Given the description of an element on the screen output the (x, y) to click on. 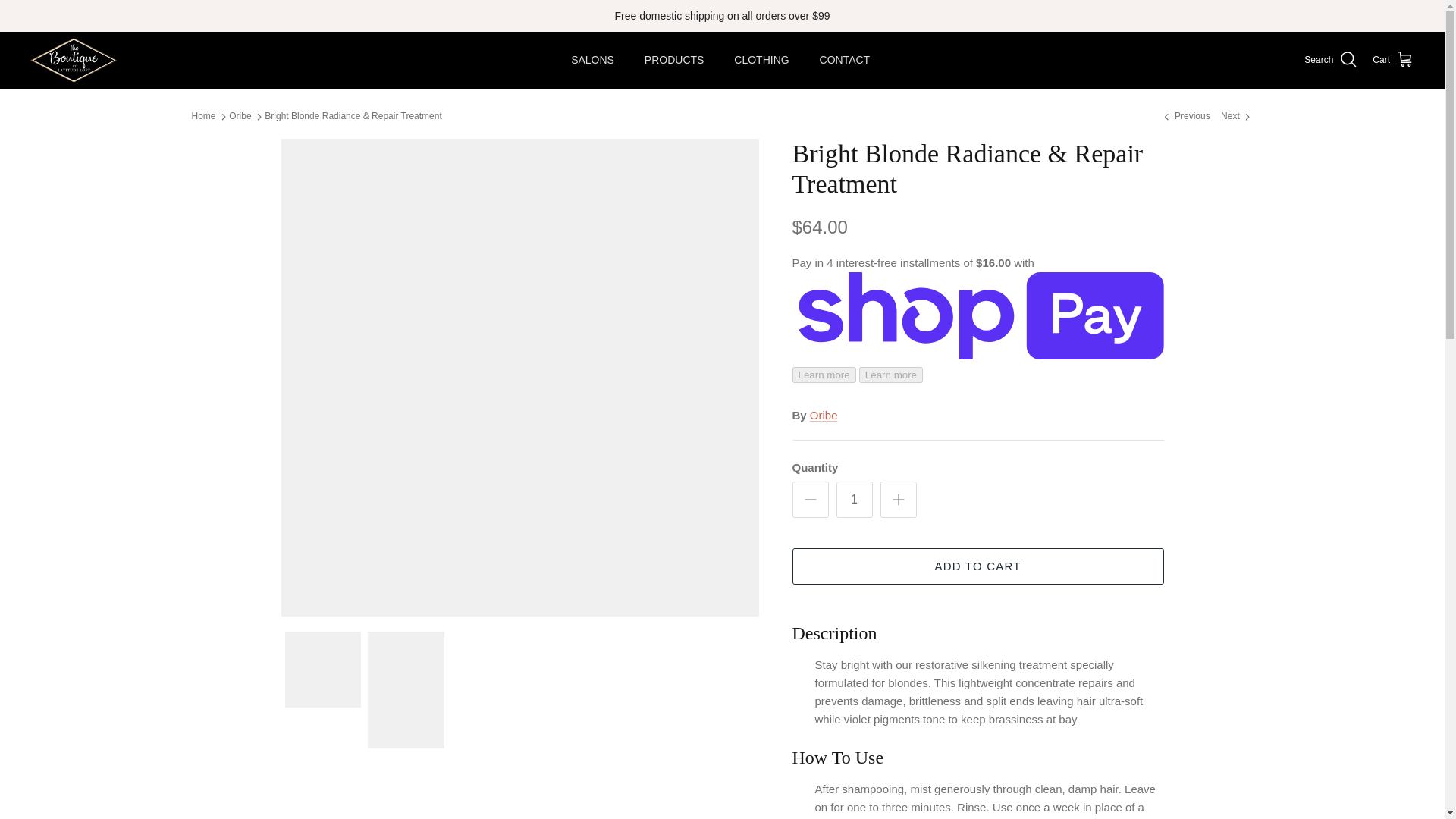
Plus (897, 499)
Home (202, 116)
CONTACT (844, 60)
ADD TO CART (977, 565)
Minus (810, 499)
Bright Blonde Essential Priming Serum (1184, 115)
Oribe (823, 414)
Plus (897, 499)
Bright Blonde Shampoo for Beautiful Color (1236, 115)
Search (1330, 59)
CLOTHING (761, 60)
Previous (1184, 115)
SALONS (592, 60)
Cart (1393, 59)
Oribe (239, 116)
